Given the description of an element on the screen output the (x, y) to click on. 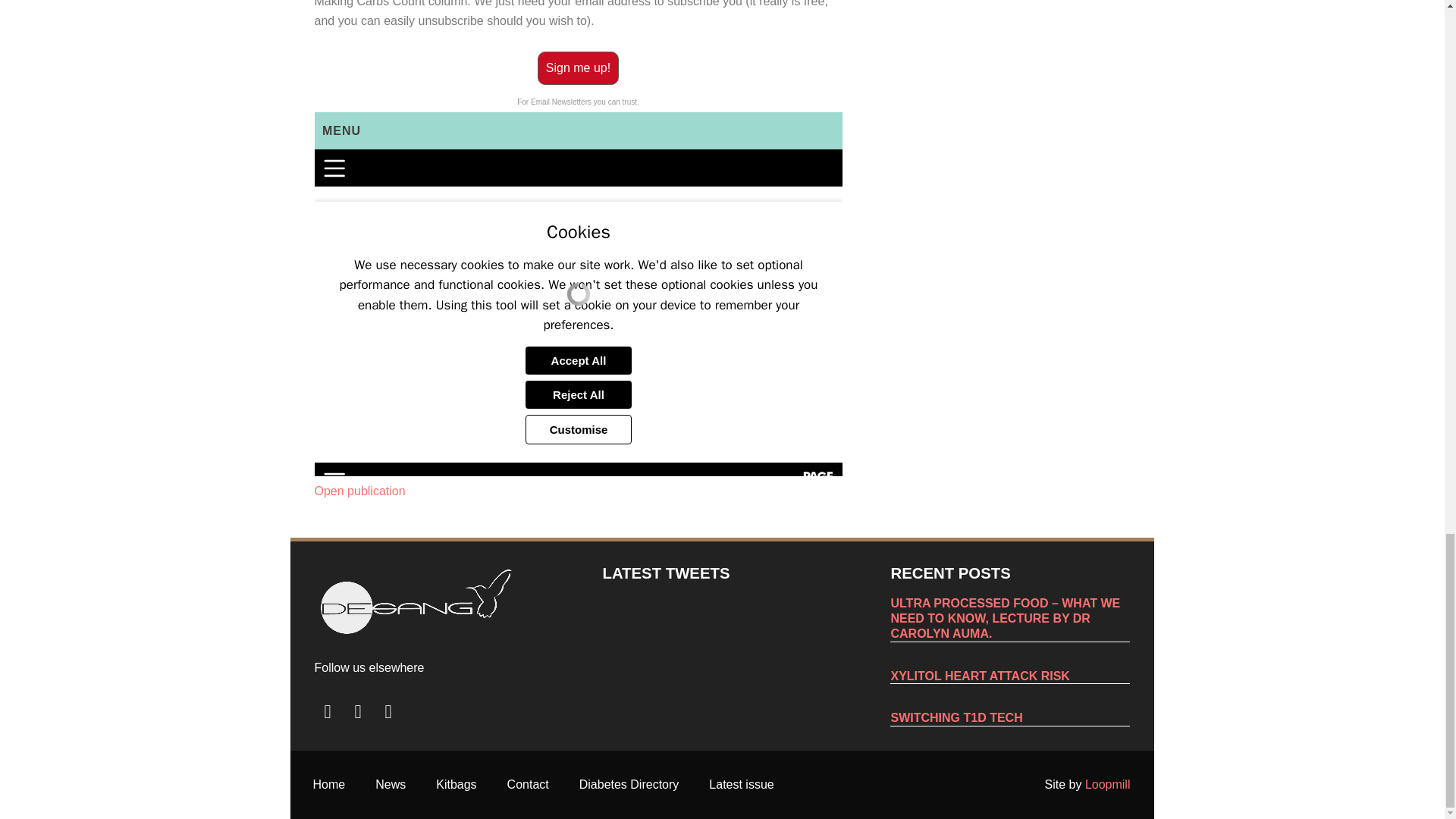
Open publication (359, 490)
XYLITOL HEART ATTACK RISK (978, 675)
Kitbags (456, 784)
Contact (528, 784)
Home (328, 784)
SWITCHING T1D TECH (955, 717)
News (389, 784)
Diabetes Directory (629, 784)
Sign me up! (577, 68)
Latest issue (741, 784)
